Given the description of an element on the screen output the (x, y) to click on. 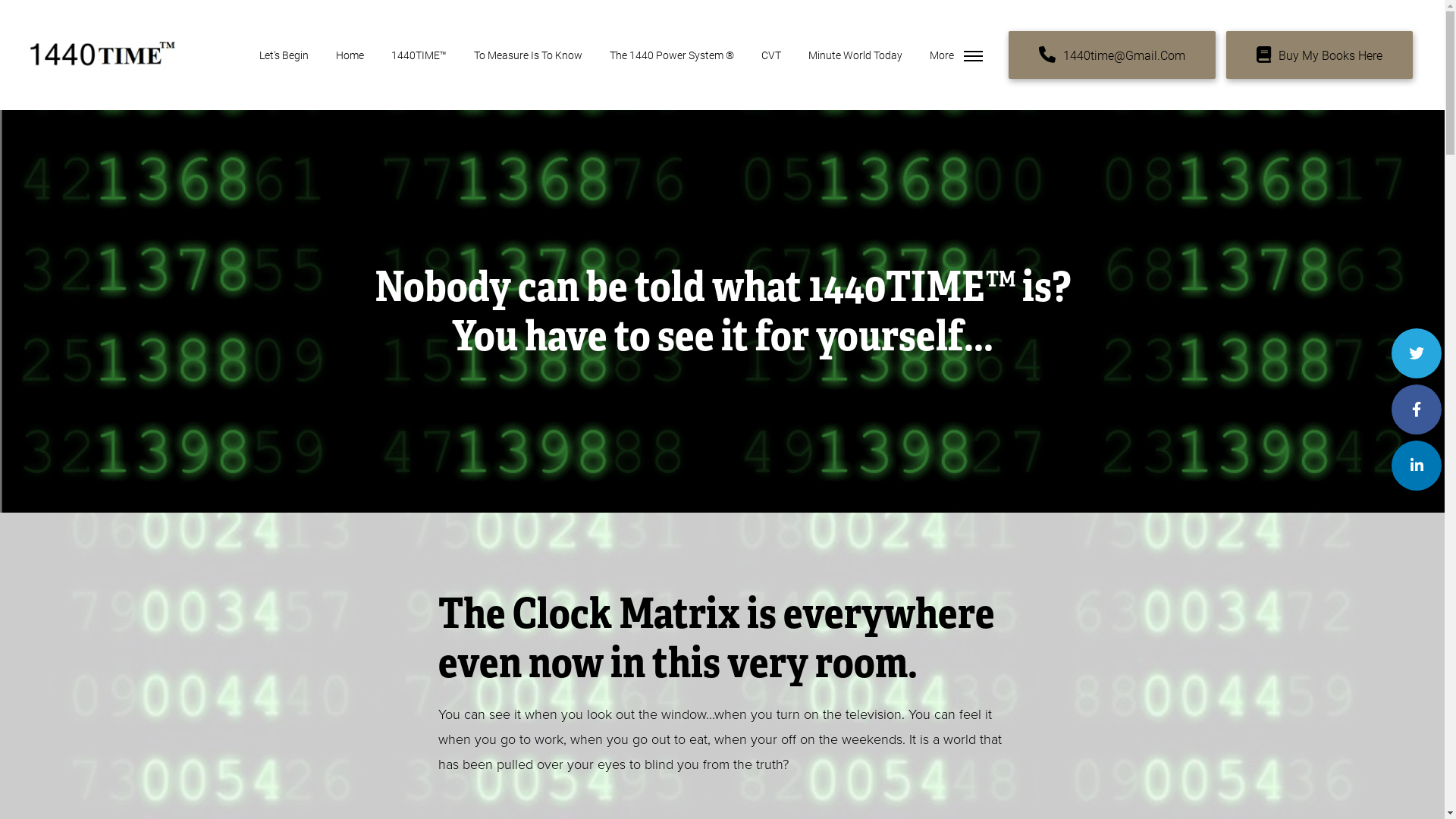
Buy My Books Here Element type: text (1319, 54)
More Element type: text (956, 54)
Minute World Today Element type: text (855, 54)
To Measure Is To Know Element type: text (528, 54)
1440time@Gmail.Com Element type: text (1111, 54)
Twitter Element type: hover (1410, 353)
Home Element type: text (349, 54)
Linked In Element type: hover (1416, 465)
Let'S Begin Element type: text (283, 54)
Twitter Element type: hover (1416, 353)
LinkedIn Element type: hover (1410, 465)
Facebook Element type: hover (1416, 409)
CVT Element type: text (770, 54)
Facebook Element type: hover (1410, 409)
